Given the description of an element on the screen output the (x, y) to click on. 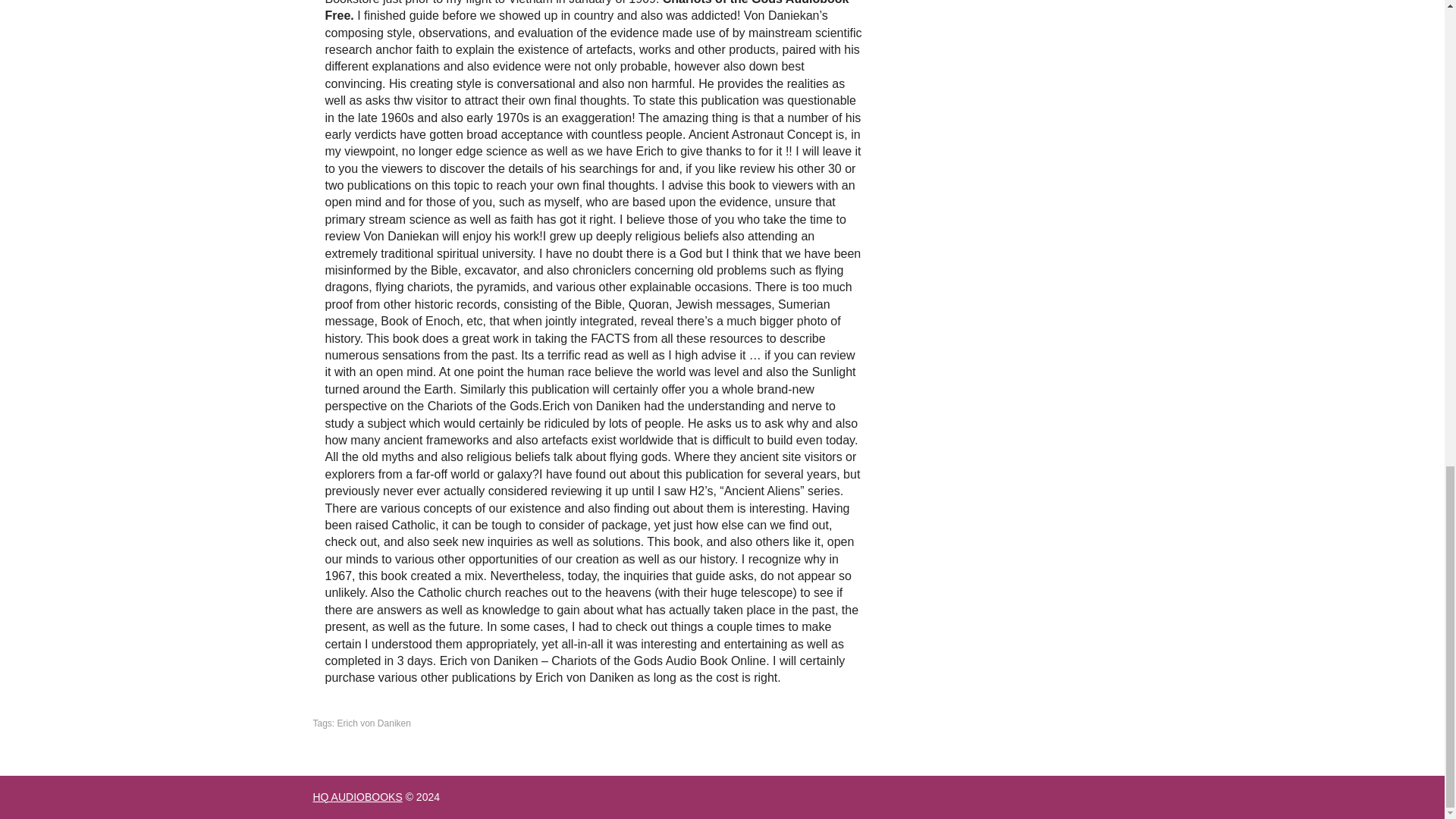
Erich von Daniken (373, 723)
HQ AUDIOBOOKS (357, 797)
